Given the description of an element on the screen output the (x, y) to click on. 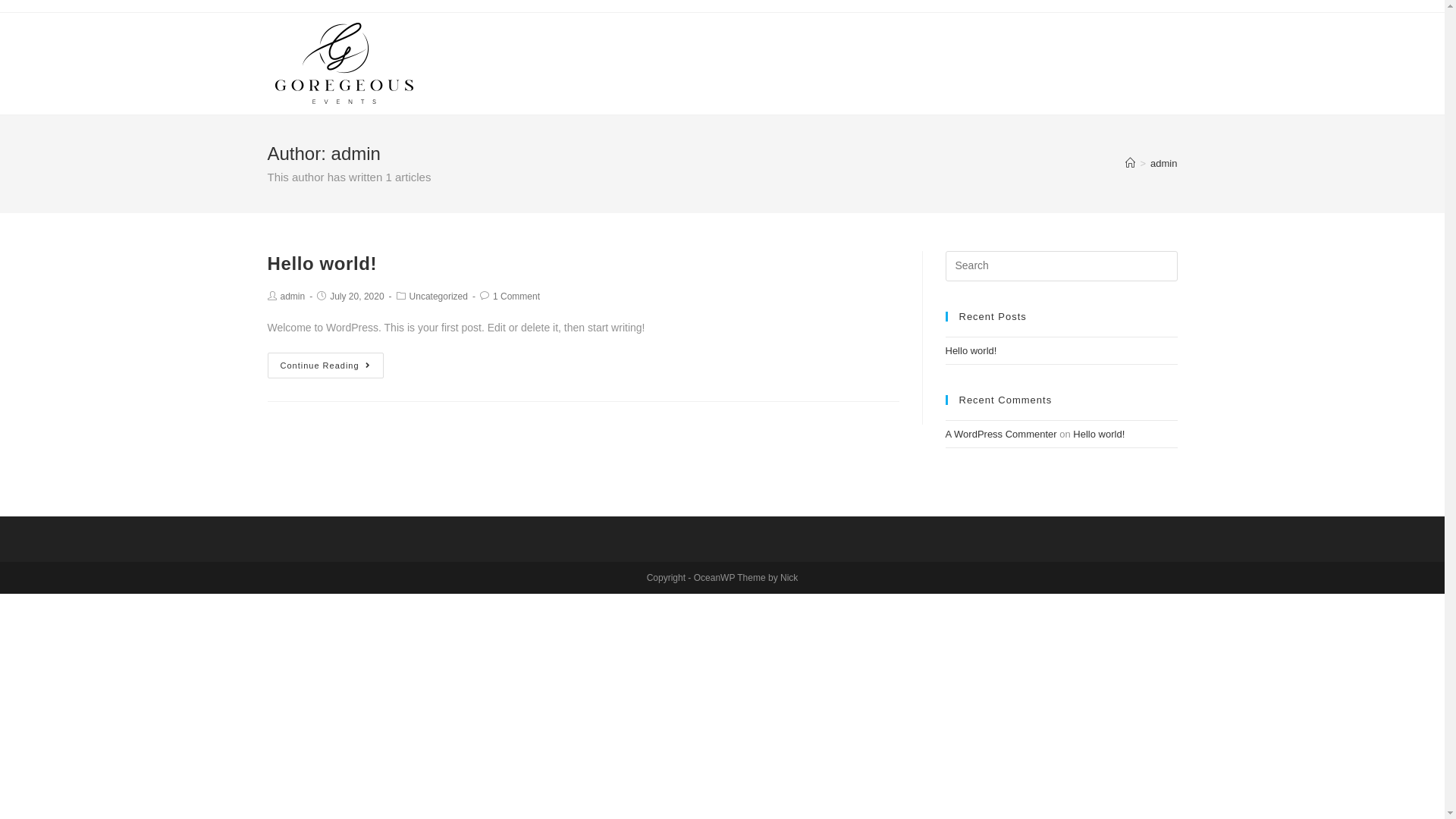
admin Element type: text (292, 296)
Hello world! Element type: text (321, 263)
1 Comment Element type: text (515, 296)
admin Element type: text (1163, 163)
Hello world! Element type: text (1098, 433)
Uncategorized Element type: text (438, 296)
Continue Reading Element type: text (324, 365)
A WordPress Commenter Element type: text (1000, 433)
Hello world! Element type: text (970, 350)
